Given the description of an element on the screen output the (x, y) to click on. 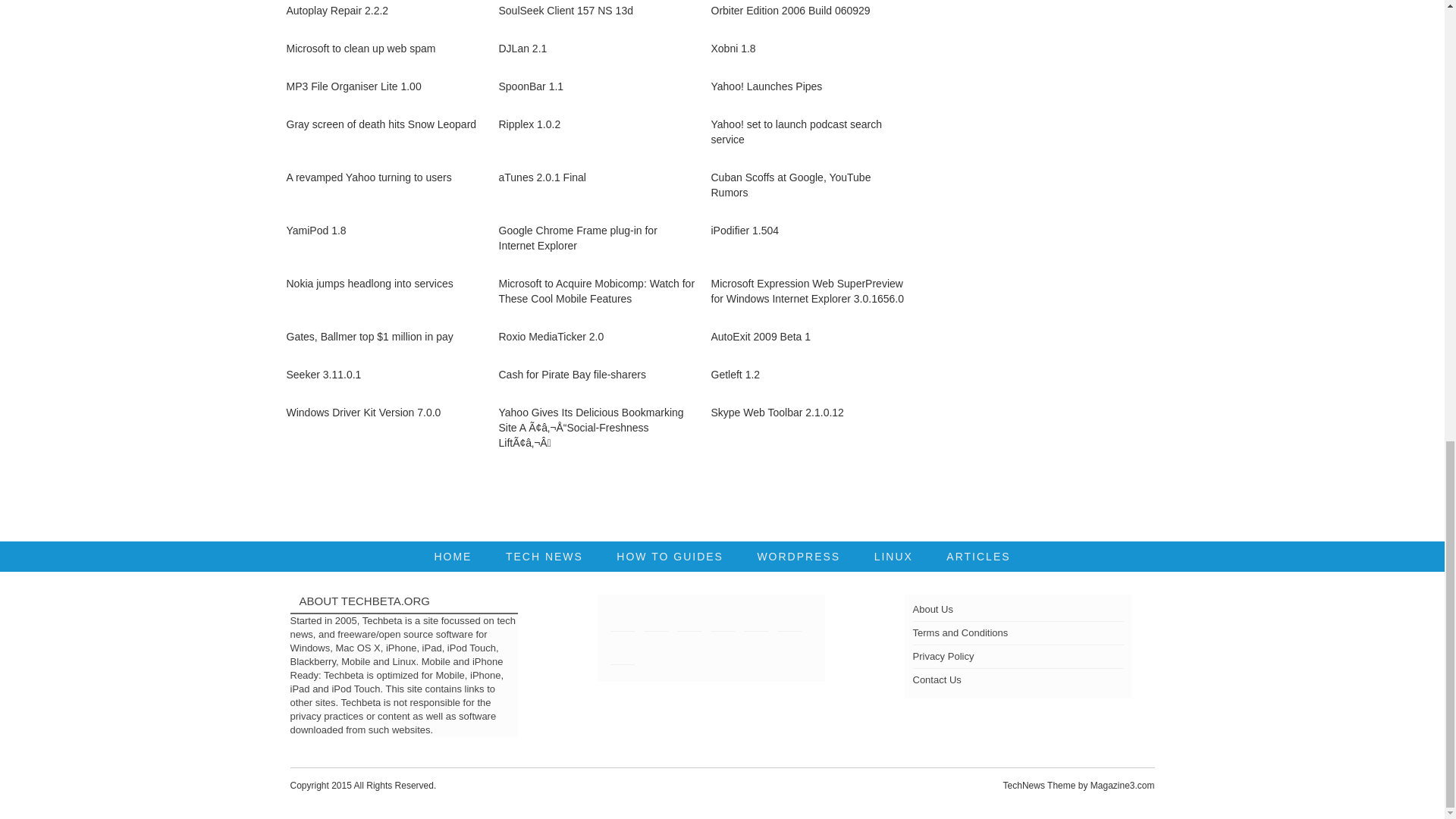
Twitter (621, 619)
LinkedIn (688, 619)
Pinterest (754, 619)
Google Plus (721, 619)
Facebook (654, 619)
